Given the description of an element on the screen output the (x, y) to click on. 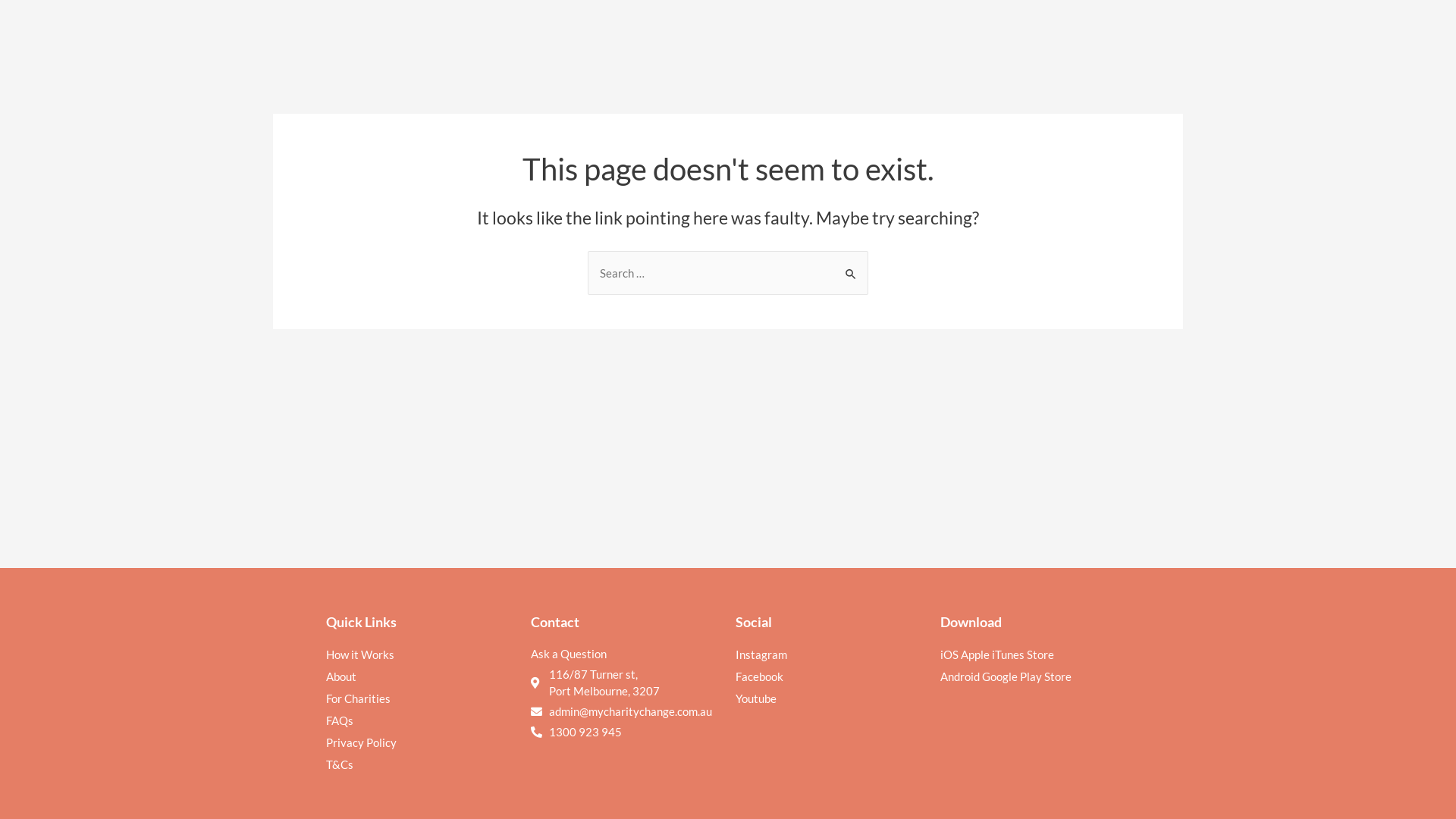
Ask a Question Element type: text (625, 653)
iOS Apple iTunes Store Element type: text (1034, 654)
Youtube Element type: text (830, 698)
T&Cs Element type: text (420, 764)
FAQs Element type: text (420, 720)
Facebook Element type: text (830, 676)
For Charities Element type: text (420, 698)
1300 923 945 Element type: text (585, 731)
Search Element type: text (851, 265)
About Element type: text (420, 676)
How it Works Element type: text (420, 654)
Instagram Element type: text (830, 654)
admin@mycharitychange.com.au Element type: text (630, 710)
Privacy Policy Element type: text (420, 742)
Android Google Play Store Element type: text (1034, 676)
